Given the description of an element on the screen output the (x, y) to click on. 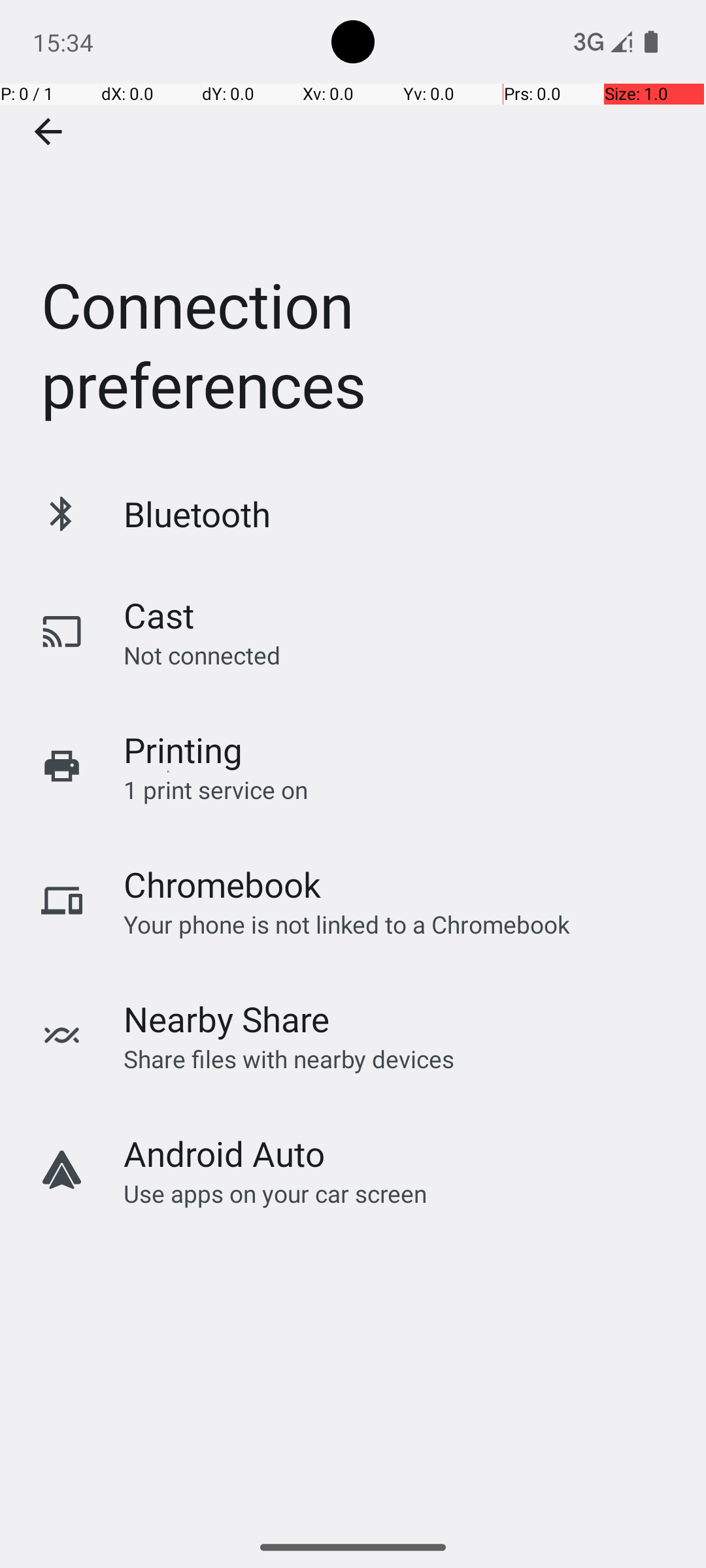
Connection preferences Element type: android.widget.FrameLayout (353, 231)
Bluetooth Element type: android.widget.TextView (197, 513)
Cast Element type: android.widget.TextView (158, 614)
Not connected Element type: android.widget.TextView (201, 654)
Printing Element type: android.widget.TextView (182, 749)
1 print service on Element type: android.widget.TextView (215, 789)
Chromebook Element type: android.widget.TextView (222, 884)
Your phone is not linked to a Chromebook Element type: android.widget.TextView (346, 923)
Nearby Share Element type: android.widget.TextView (226, 1018)
Share files with nearby devices Element type: android.widget.TextView (288, 1058)
Android Auto Element type: android.widget.TextView (223, 1153)
Use apps on your car screen Element type: android.widget.TextView (275, 1192)
